Given the description of an element on the screen output the (x, y) to click on. 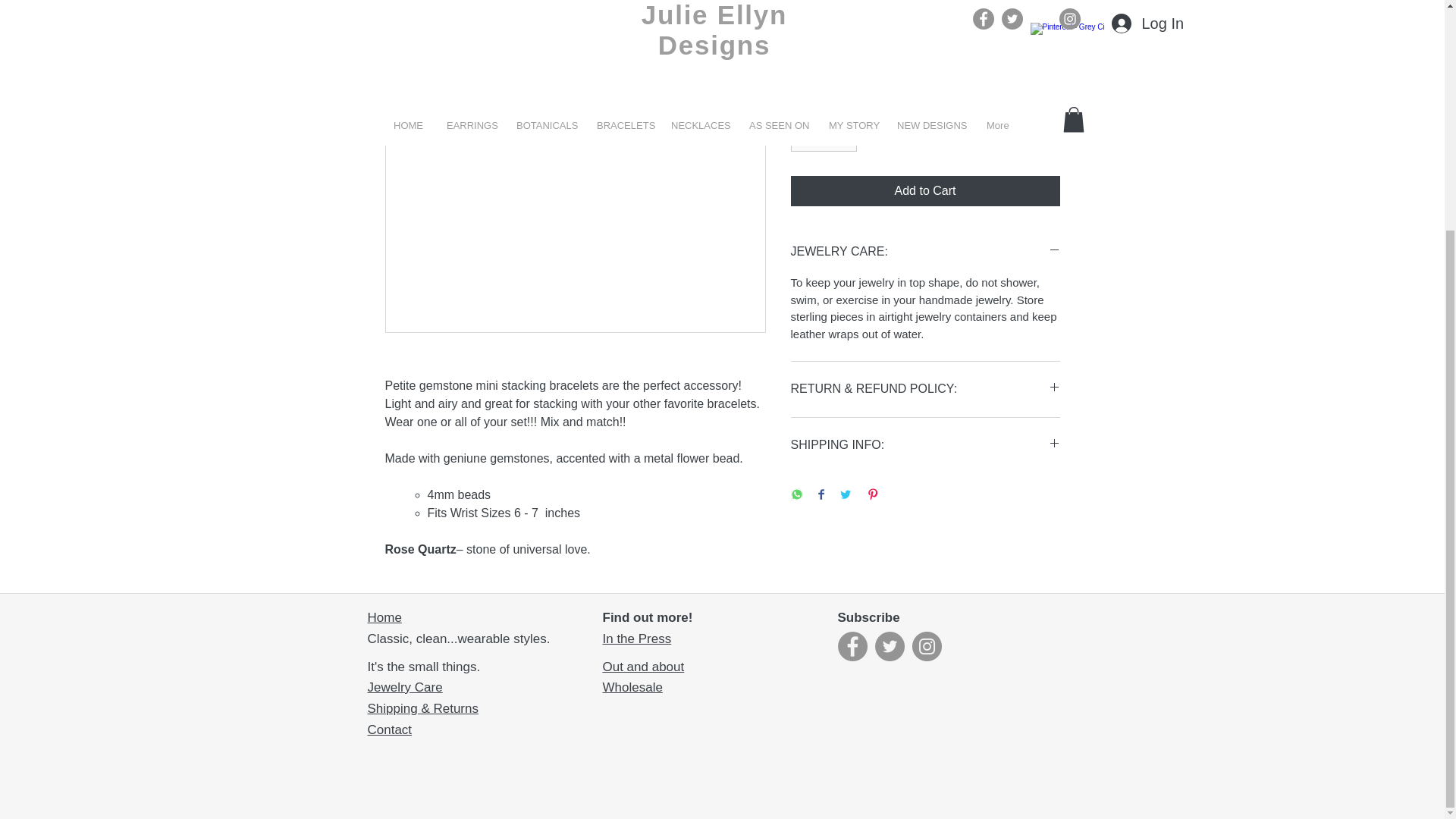
Add to Cart (924, 191)
SHIPPING INFO: (924, 445)
1 (823, 134)
Rose quartz (924, 60)
JEWELRY CARE: (924, 251)
In the Press (636, 638)
Out and about (643, 667)
Home (383, 617)
Wholesale (632, 687)
Jewelry Care (404, 687)
